Given the description of an element on the screen output the (x, y) to click on. 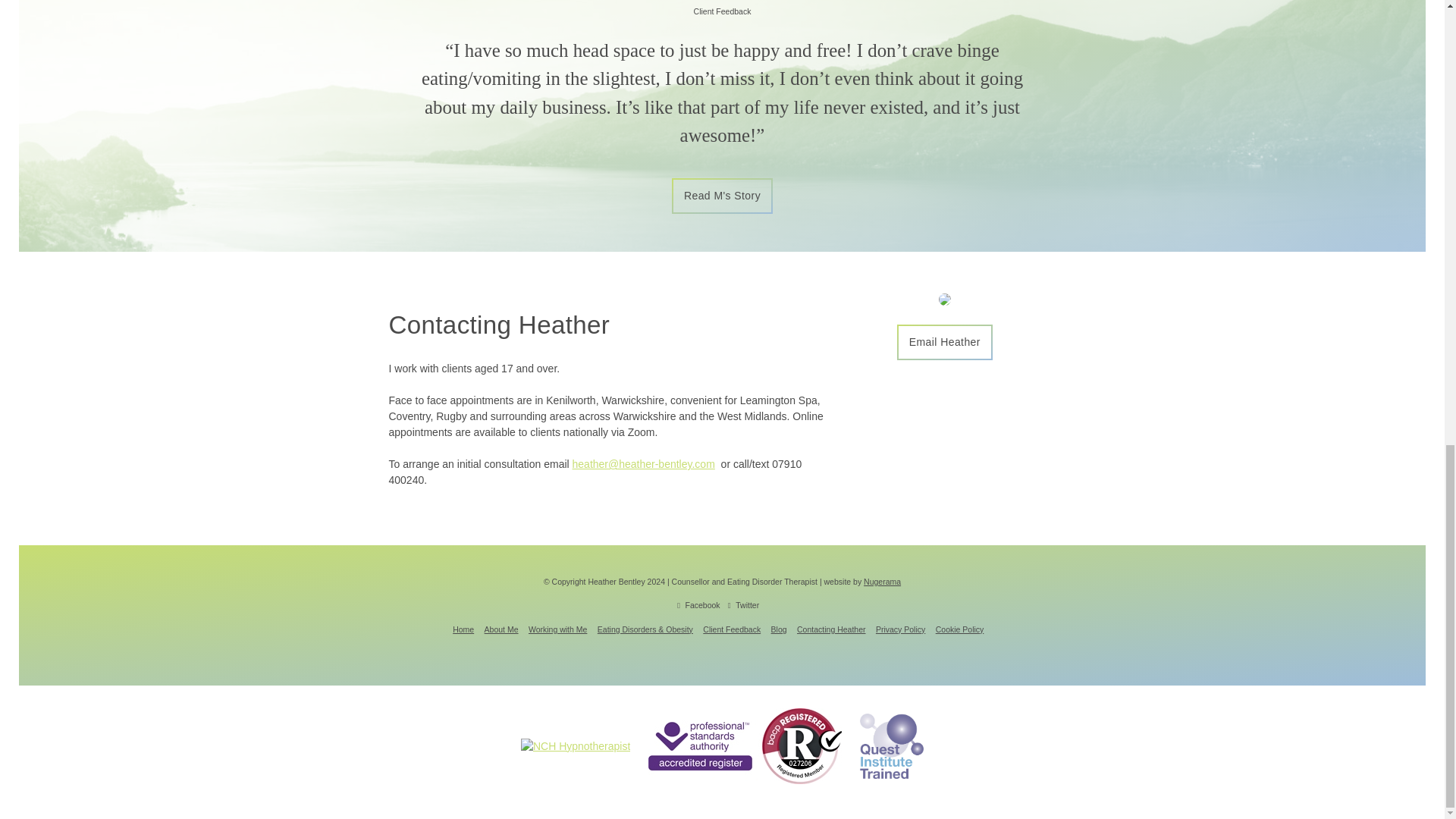
Cookie Policy (960, 628)
BACP Registered (744, 745)
The Quest Institute (891, 745)
About Me (501, 628)
Home (463, 628)
Email Heather (944, 342)
Contacting Heather (830, 628)
Facebook (698, 604)
Read M's Story (722, 195)
Privacy Policy (900, 628)
Twitter (743, 604)
NCH Hypnotherapist (575, 746)
Client Feedback (731, 628)
Working with Me (557, 628)
NCH Registered Hypnotherapist (575, 745)
